Given the description of an element on the screen output the (x, y) to click on. 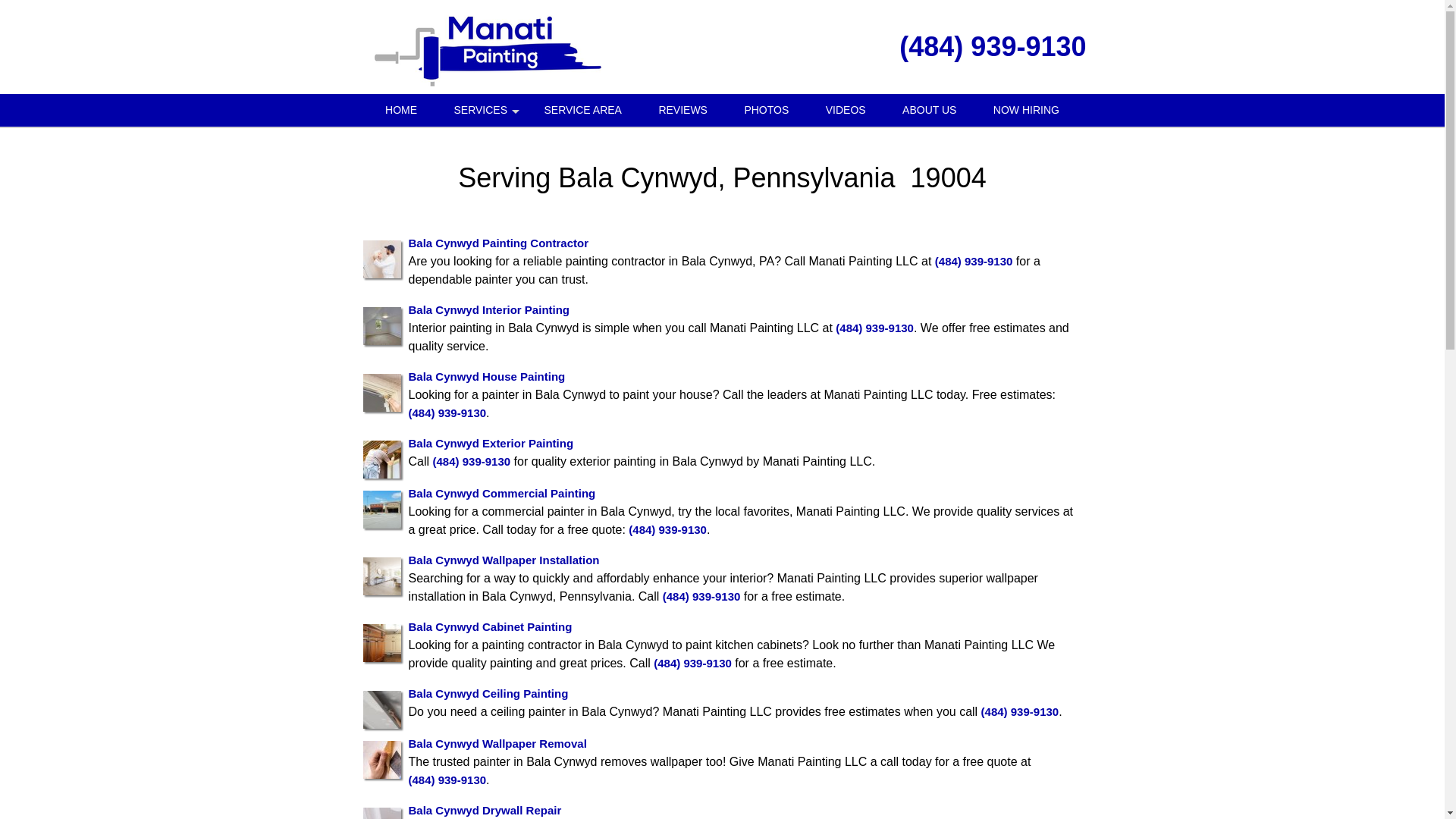
Bala Cynwyd House Painting (485, 376)
Bala Cynwyd Wallpaper Installation (502, 559)
Bala Cynwyd Wallpaper Removal (496, 743)
Bala Cynwyd Painting Contractor (497, 242)
Bala Cynwyd Interior Painting (488, 309)
ABOUT US (928, 110)
VIDEOS (845, 110)
SERVICE AREA (582, 110)
Bala Cynwyd Ceiling Painting (487, 693)
Bala Cynwyd Exterior Painting (490, 442)
REVIEWS (682, 110)
HOME (400, 110)
Bala Cynwyd Commercial Painting (501, 492)
Bala Cynwyd Cabinet Painting (489, 626)
NOW HIRING (1025, 110)
